Given the description of an element on the screen output the (x, y) to click on. 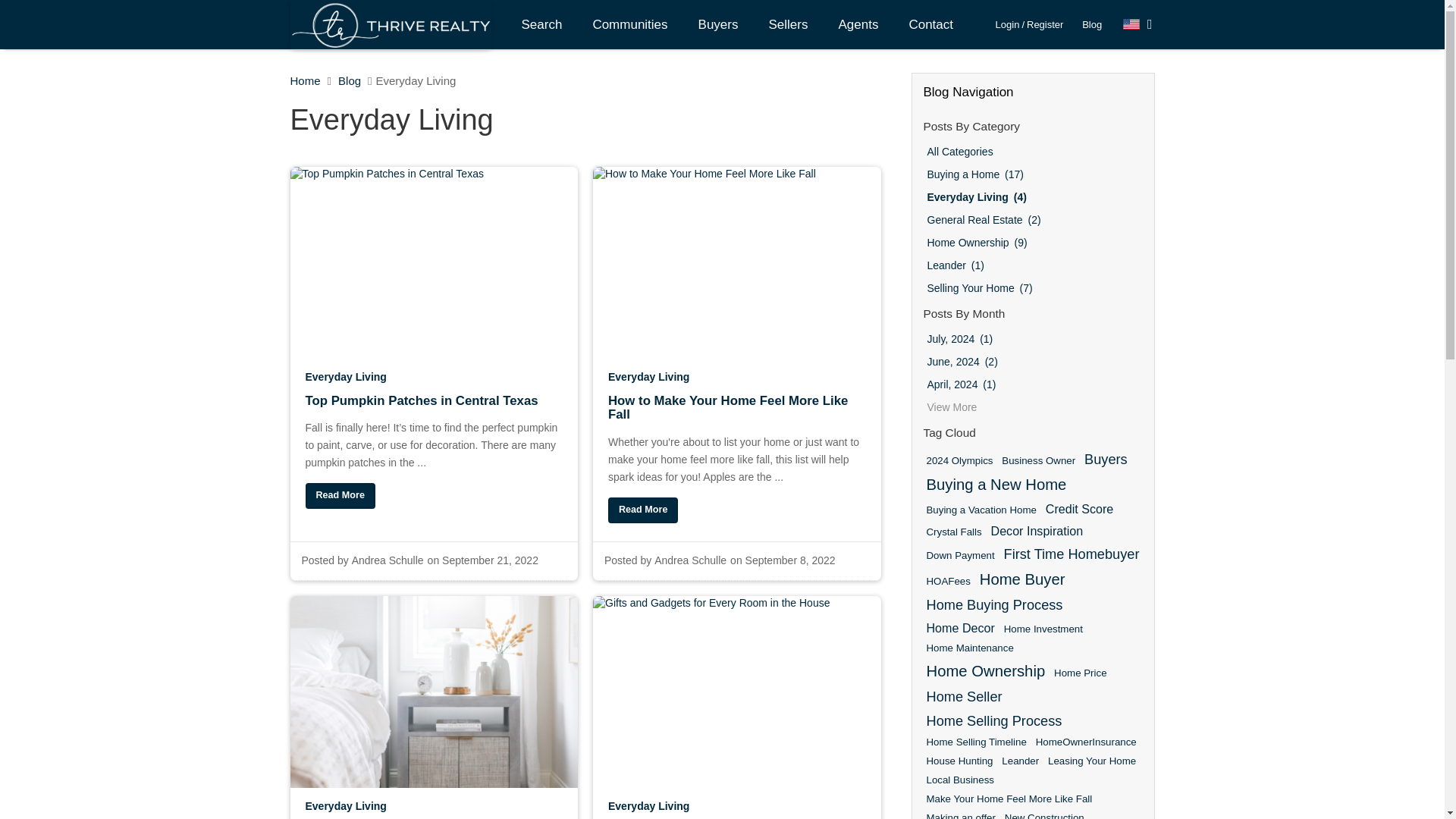
Top Pumpkin Patches in Central Texas (433, 412)
Communities (629, 24)
Sellers (789, 24)
Search (542, 24)
Buyers (718, 24)
Top Pumpkin Patches in Central Texas (339, 495)
Register (1044, 24)
Blog (1091, 24)
Select Language (1137, 24)
Contact (930, 24)
How to Make Your Home Feel More Like Fall (737, 419)
Agents (857, 24)
How to Make Your Home Feel More Like Fall (643, 510)
